Given the description of an element on the screen output the (x, y) to click on. 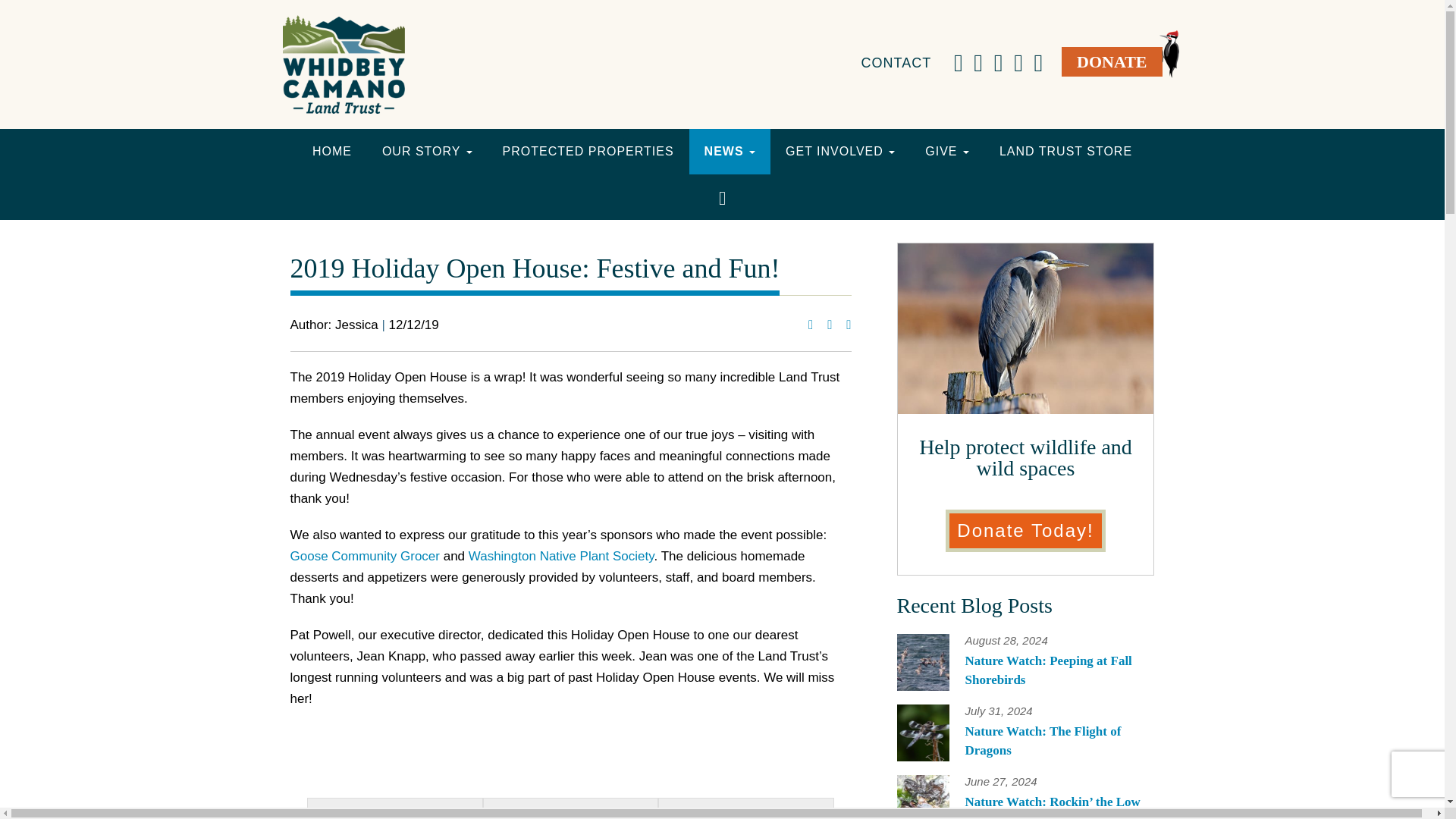
GET INVOLVED (840, 151)
CONTACT (895, 55)
Get Involved (840, 151)
Home (331, 151)
DONATE (1111, 61)
NEWS (729, 151)
Washington Native Plant Society (560, 555)
HOME (331, 151)
Goose Community Grocer (364, 555)
PROTECTED PROPERTIES (587, 151)
